Given the description of an element on the screen output the (x, y) to click on. 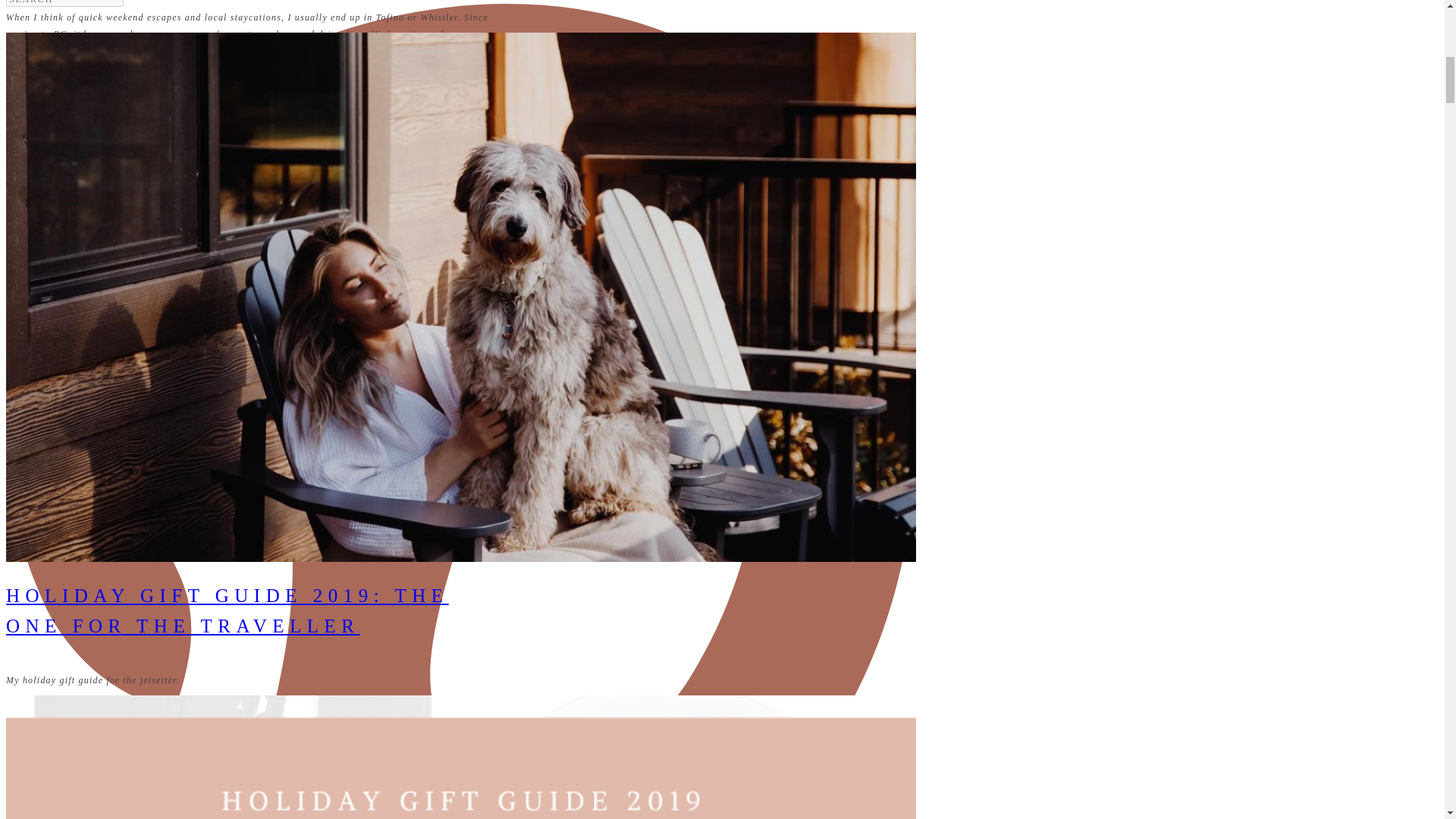
HOLIDAY GIFT GUIDE 2019: THE ONE FOR THE TRAVELLER (226, 610)
Holiday Gift Guide 2019: The One For The Traveller (460, 757)
THIS POST (460, 444)
